Given the description of an element on the screen output the (x, y) to click on. 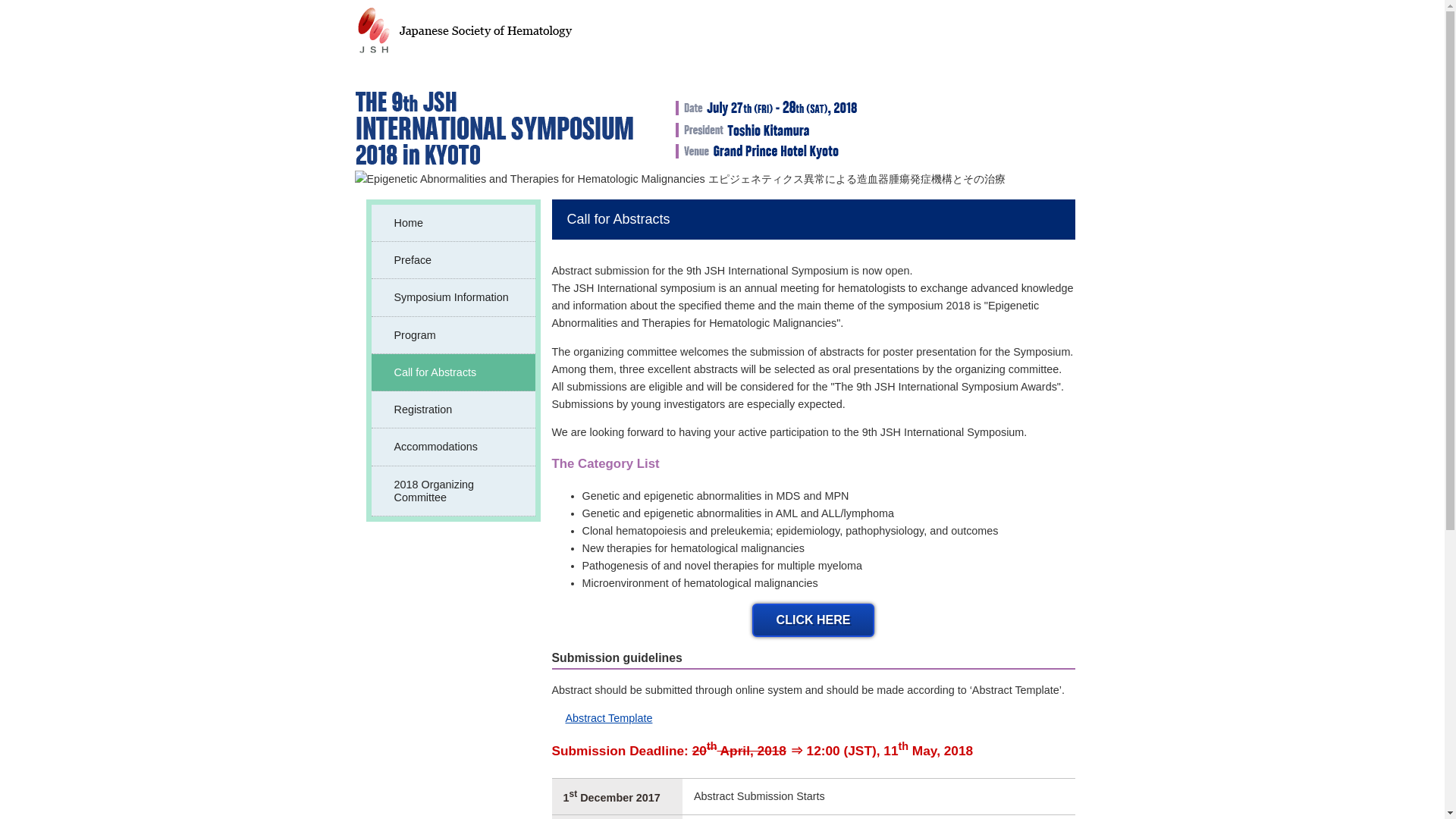
Preface (453, 260)
CLICK HERE (813, 620)
Program (453, 334)
Home (453, 222)
2018 Organizing Committee (453, 491)
Accommodations (453, 447)
Abstract Template (601, 718)
Symposium Information (453, 297)
Registration (453, 409)
